Given the description of an element on the screen output the (x, y) to click on. 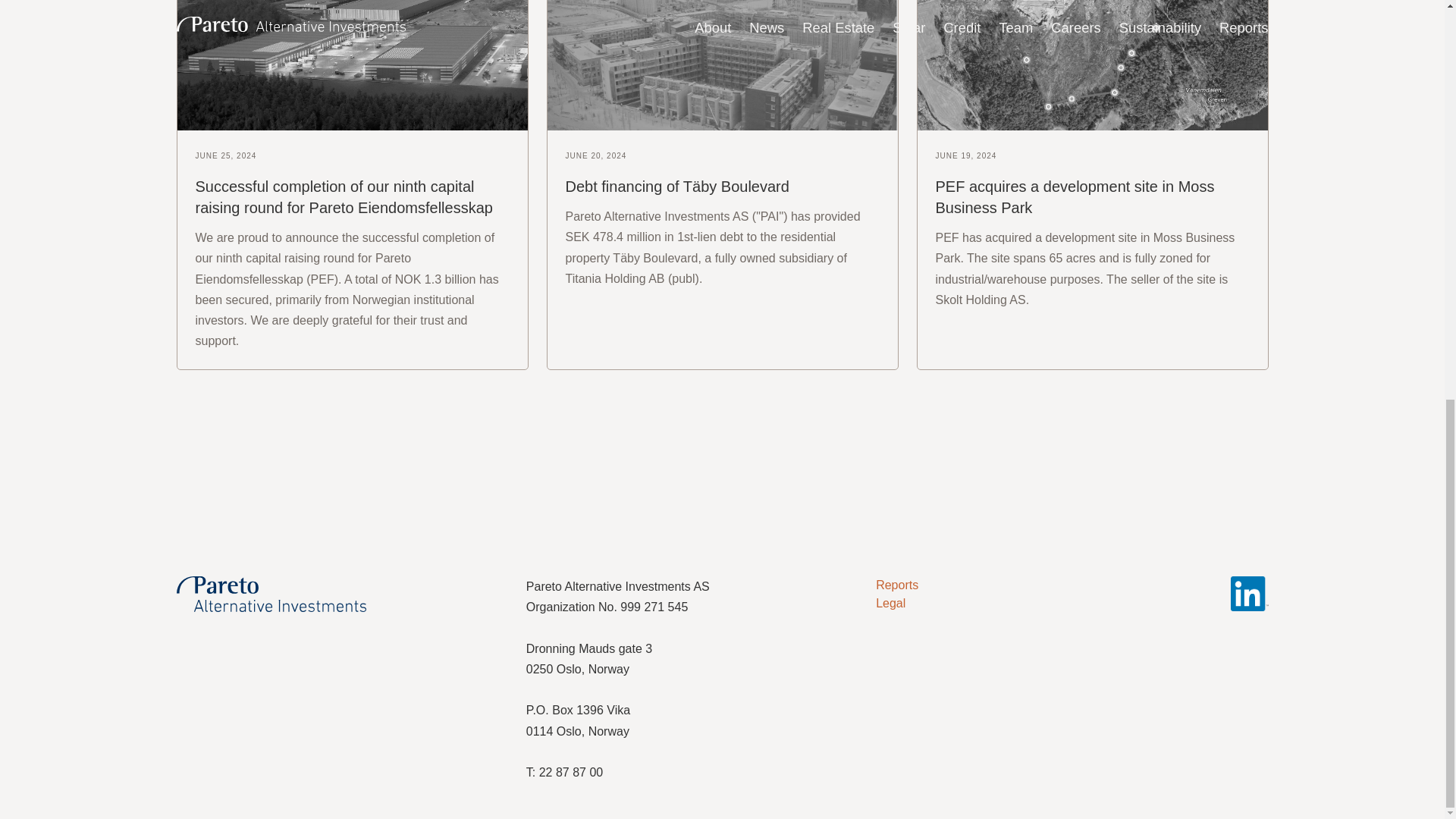
Legal (890, 603)
Reports (897, 584)
